Given the description of an element on the screen output the (x, y) to click on. 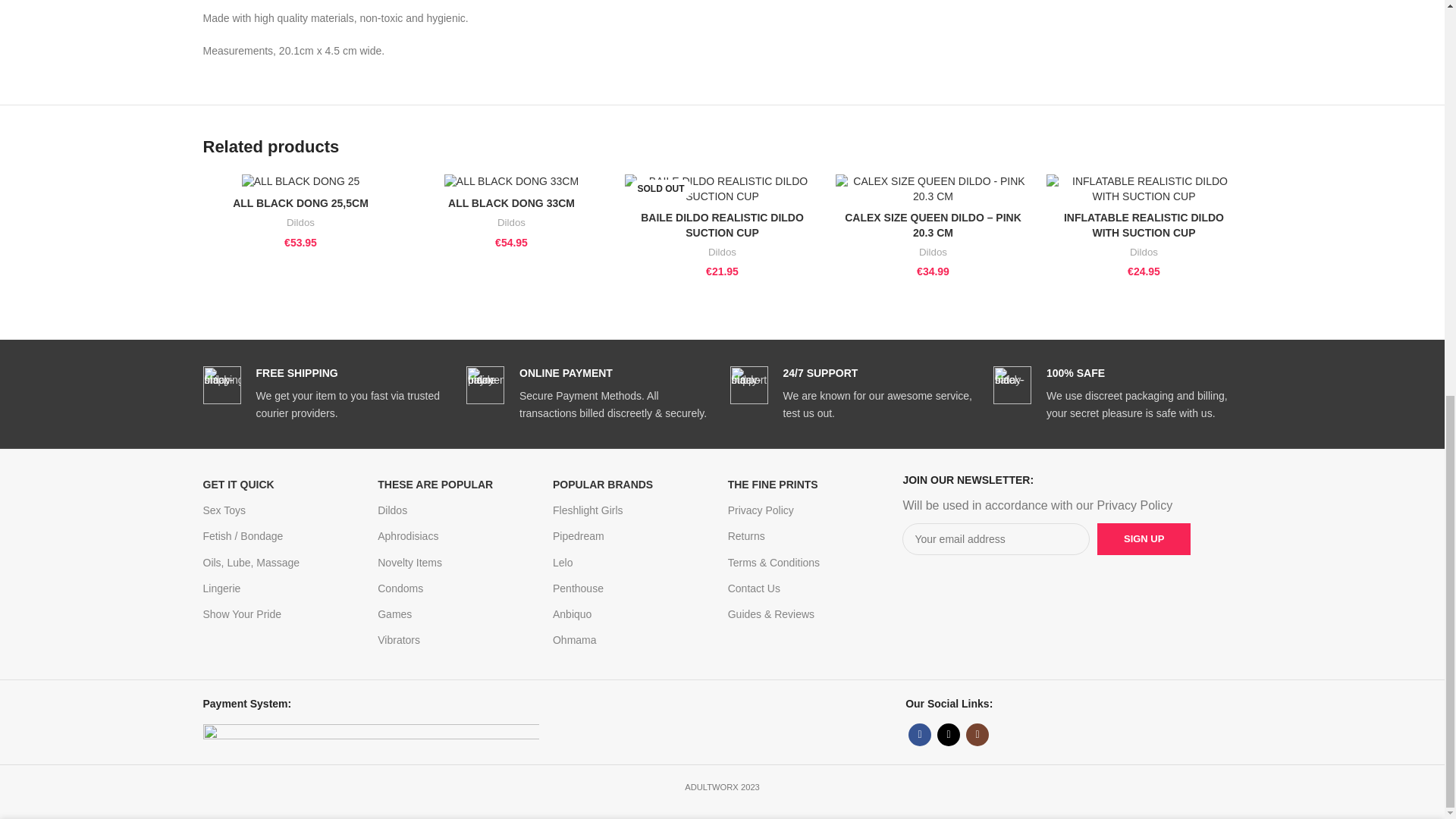
black-friday-shipping (222, 385)
black-friday-online-payment (484, 385)
Sign up (1144, 539)
